Given the description of an element on the screen output the (x, y) to click on. 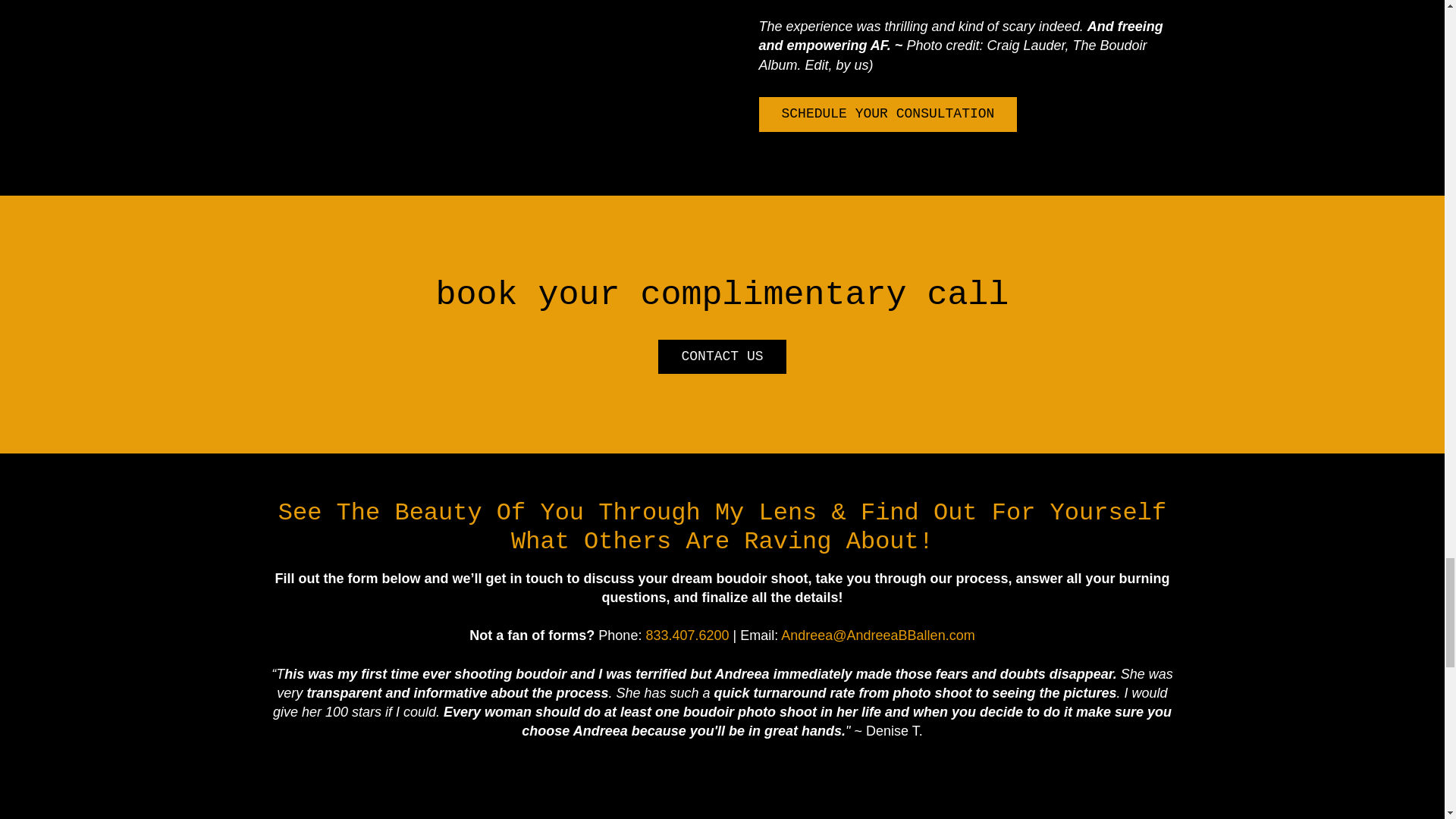
SCHEDULE YOUR CONSULTATION (887, 114)
833.407.6200 (687, 635)
CONTACT US (722, 356)
